Given the description of an element on the screen output the (x, y) to click on. 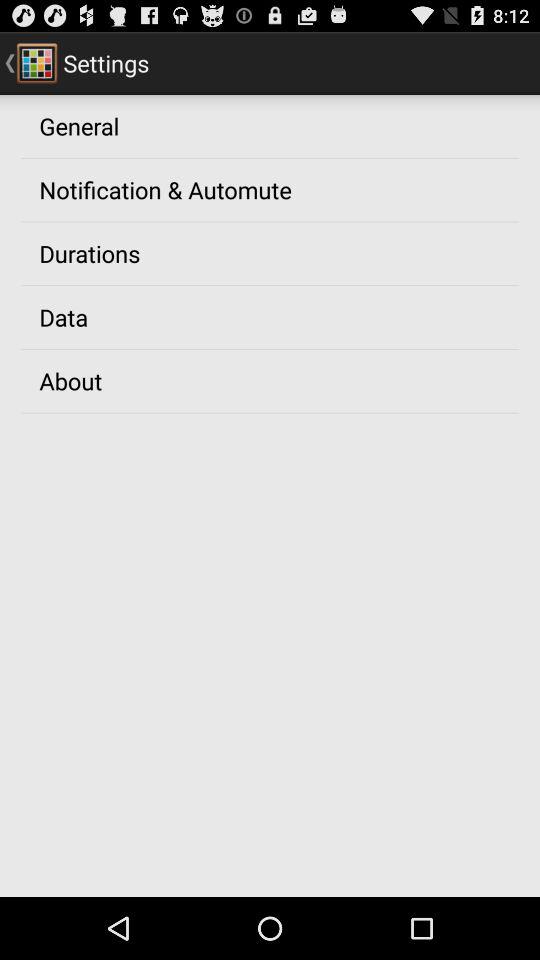
tap the item below the durations (63, 317)
